Given the description of an element on the screen output the (x, y) to click on. 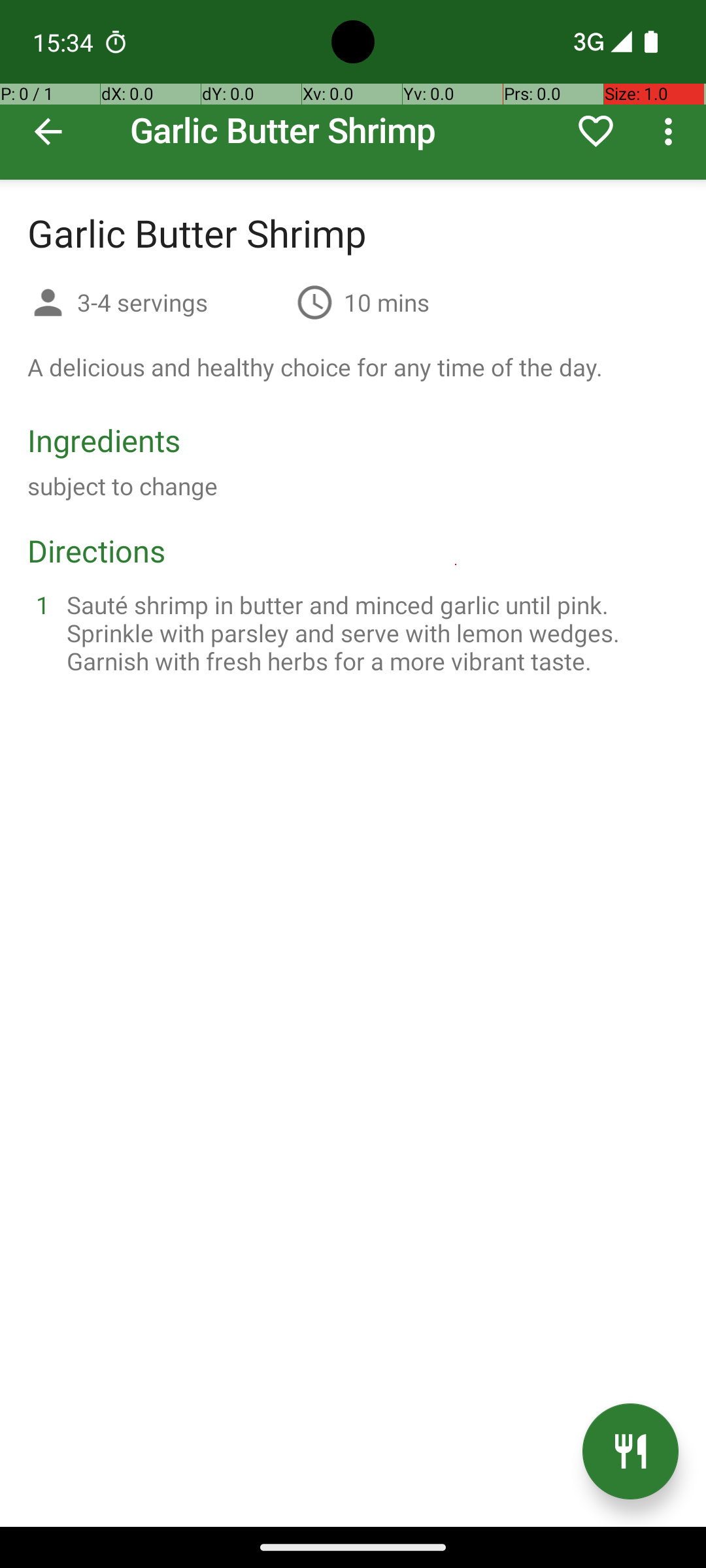
Sauté shrimp in butter and minced garlic until pink. Sprinkle with parsley and serve with lemon wedges. Garnish with fresh herbs for a more vibrant taste. Element type: android.widget.TextView (368, 632)
